Given the description of an element on the screen output the (x, y) to click on. 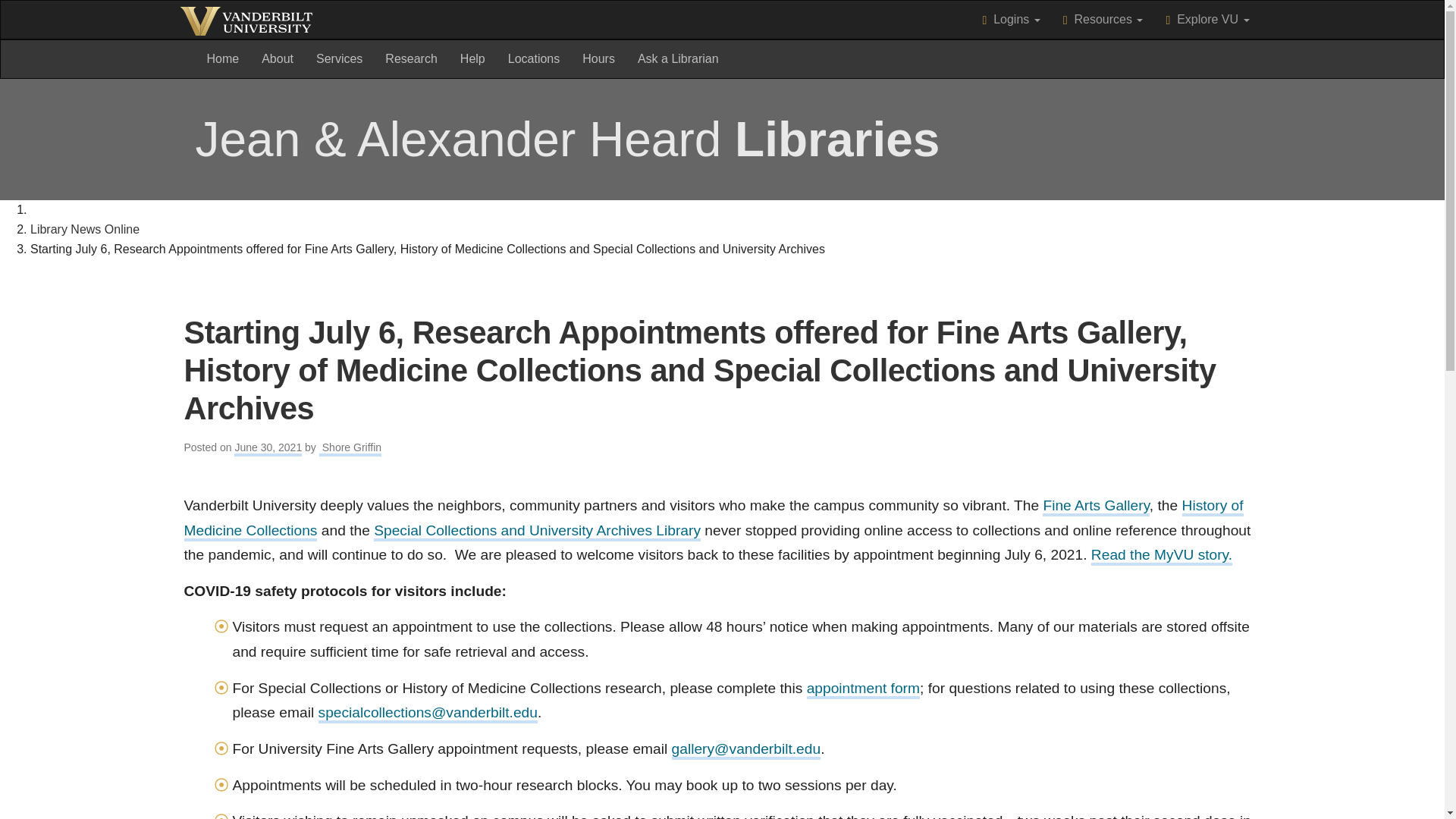
  Resources (1102, 19)
About (277, 58)
  Logins (1011, 19)
  Explore VU (1207, 19)
Services (222, 58)
